Given the description of an element on the screen output the (x, y) to click on. 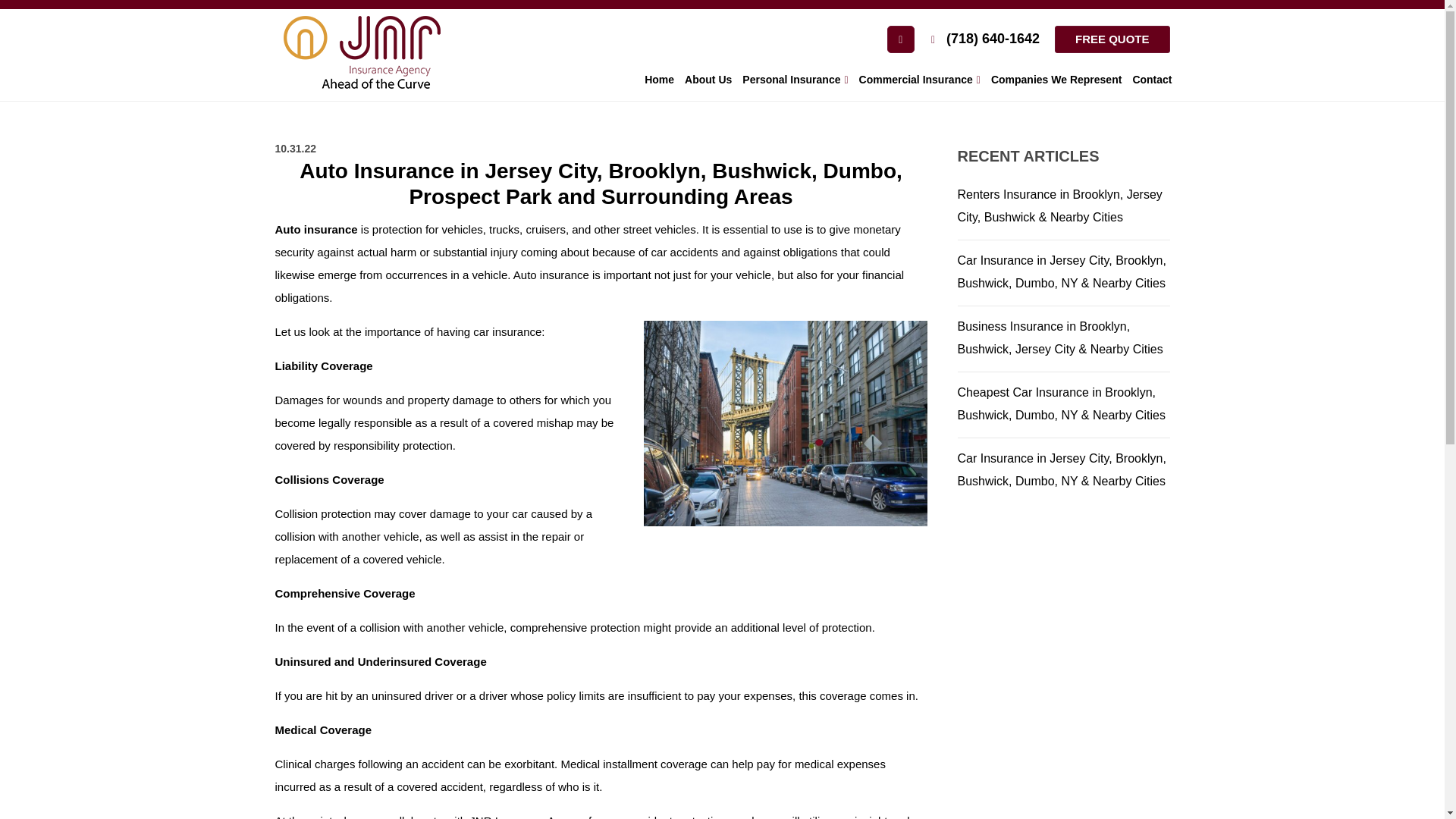
About Us (707, 79)
FREE QUOTE (1112, 39)
Home (659, 79)
Commercial Insurance (919, 79)
Auto insurance (315, 228)
Personal Insurance (794, 79)
Companies We Represent (1055, 79)
Contact (1151, 79)
Facebook (900, 39)
JNR Insurance Agency (526, 816)
